Given the description of an element on the screen output the (x, y) to click on. 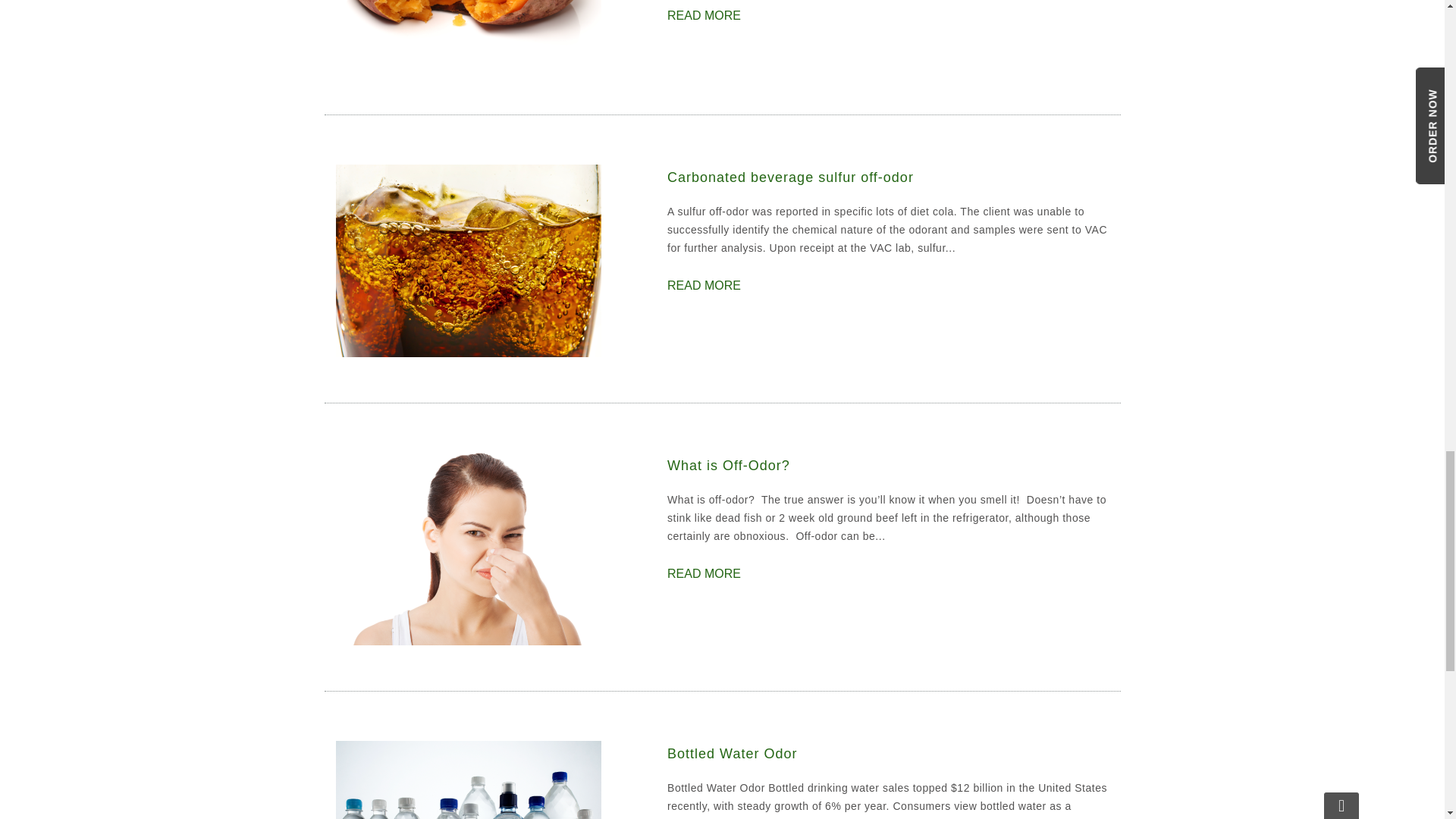
What is Off-Odor? (466, 548)
What is Off-Odor? (703, 573)
Bottled Water Odor (887, 753)
What is Off-Odor? (887, 465)
Carbonated beverage sulfur off-odor (703, 285)
Carbonated beverage sulfur off-odor (887, 177)
Carbonated beverage sulfur off-odor (466, 259)
Odorous Compounds from Sweet Potatoes (703, 15)
